Given the description of an element on the screen output the (x, y) to click on. 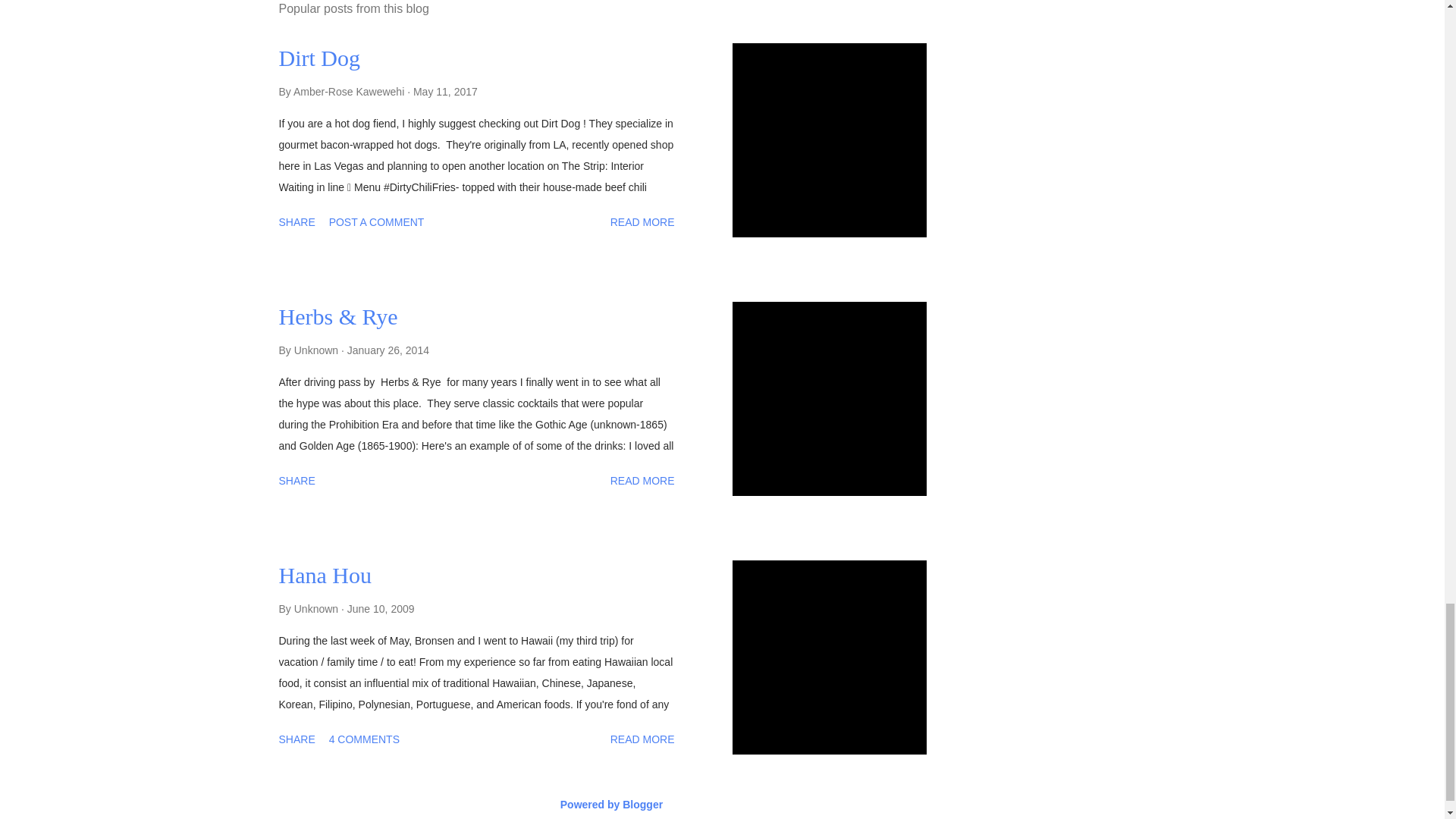
author profile (350, 91)
